Given the description of an element on the screen output the (x, y) to click on. 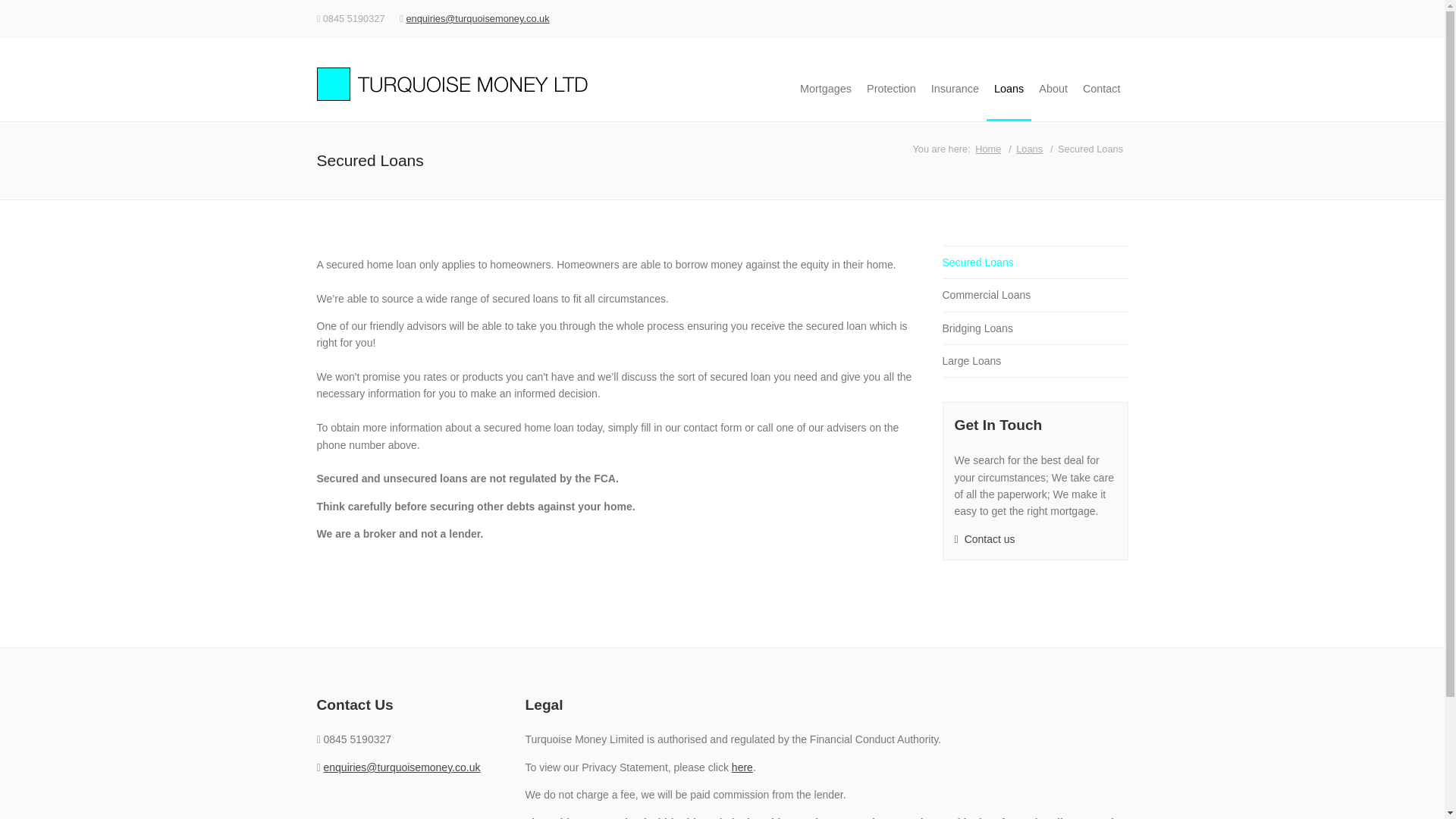
Privacy Statement (742, 767)
Mortgages (825, 88)
Protection (891, 88)
